Given the description of an element on the screen output the (x, y) to click on. 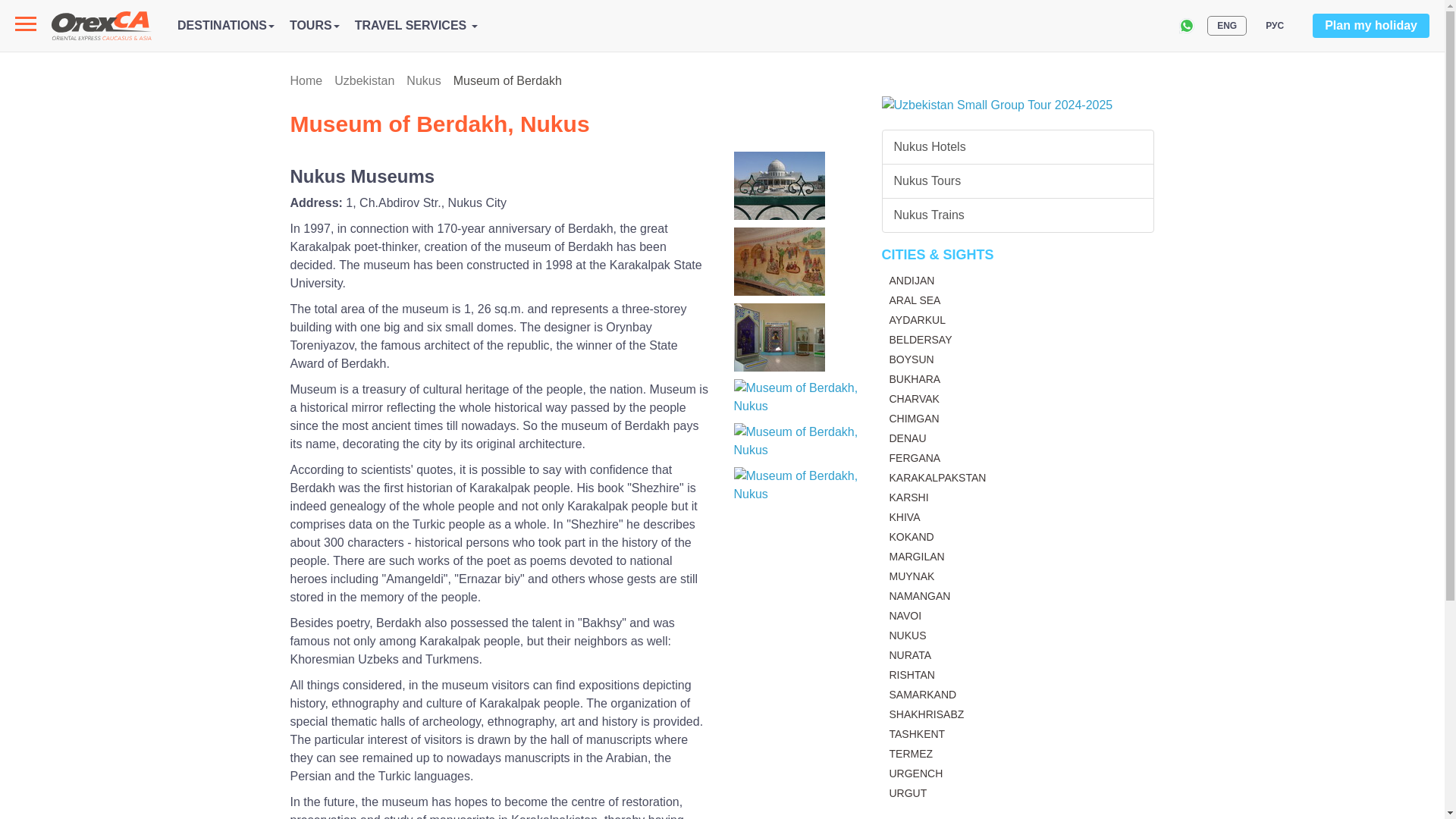
DESTINATIONS (226, 24)
TOURS (314, 24)
